Given the description of an element on the screen output the (x, y) to click on. 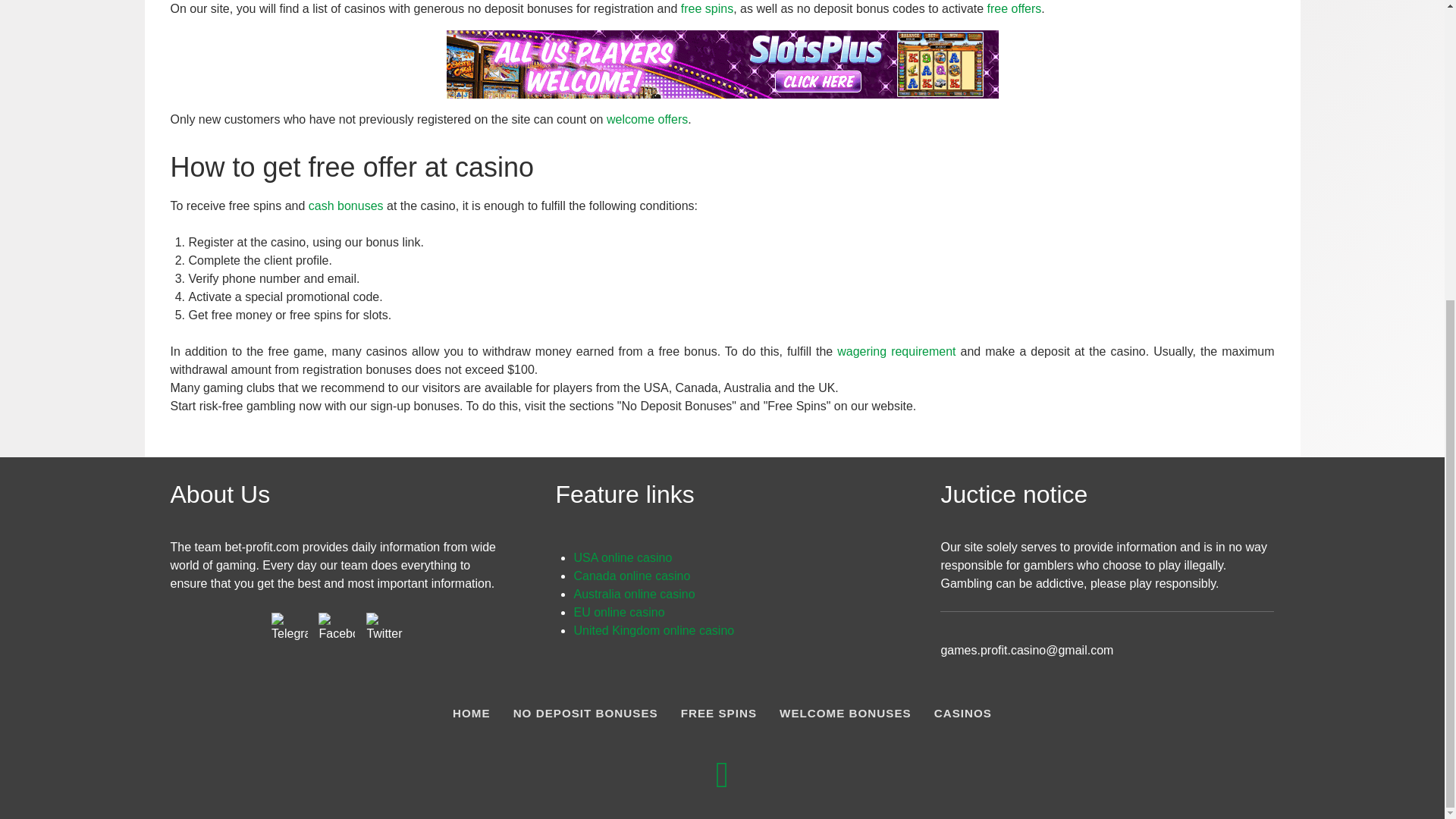
Slots Plus Casino bonus (721, 62)
wagering requirement (896, 350)
cash bonuses (346, 205)
free offers (1014, 8)
welcome offers (647, 119)
free spins (707, 8)
